Given the description of an element on the screen output the (x, y) to click on. 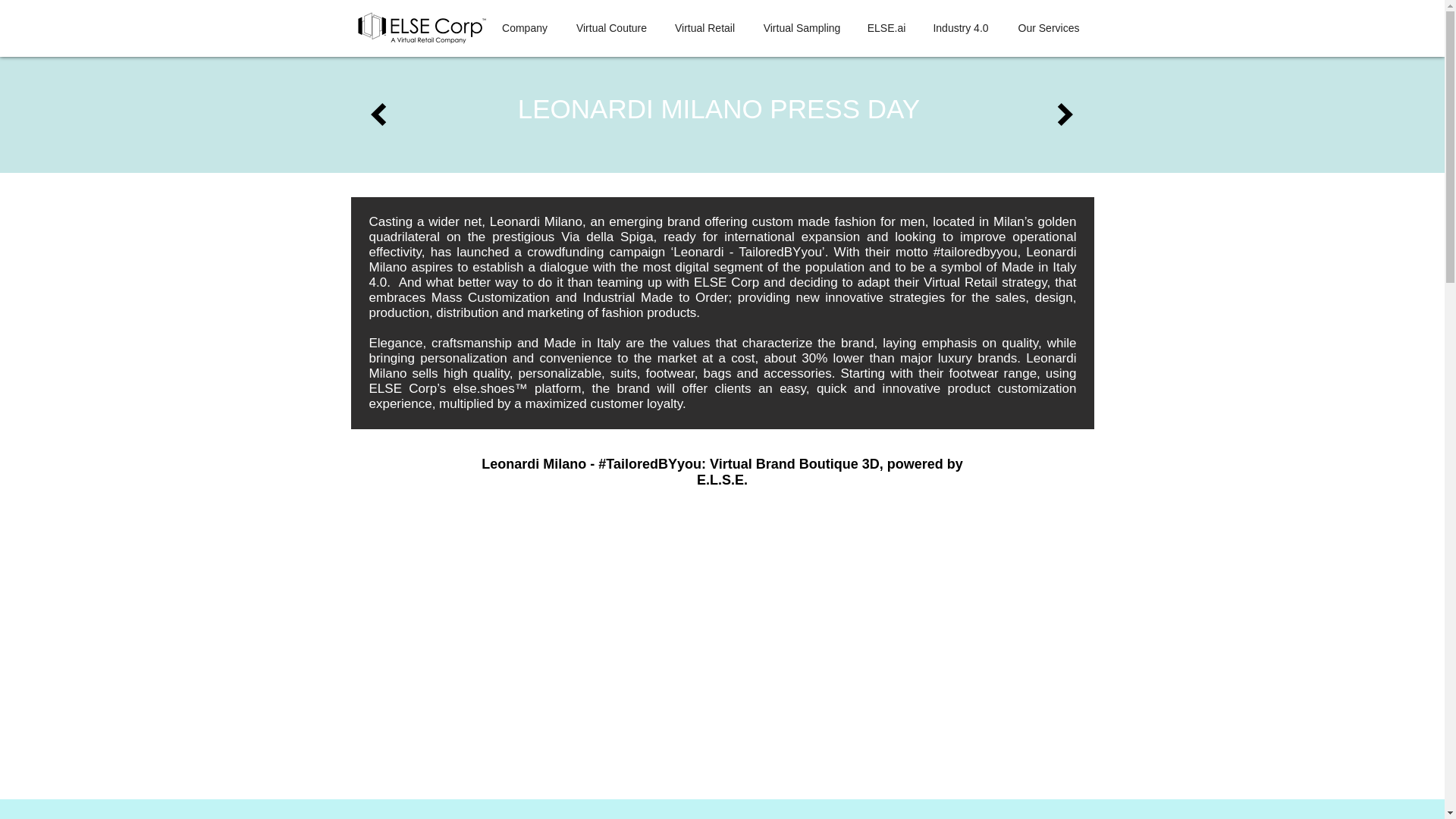
Virtual Retail (705, 28)
Virtual Sampling (802, 28)
Company (524, 28)
ELSE Cop Logo (420, 28)
Our Services (1049, 28)
ELSE.ai (887, 28)
Industry 4.0 (960, 28)
Virtual Couture (611, 28)
